Given the description of an element on the screen output the (x, y) to click on. 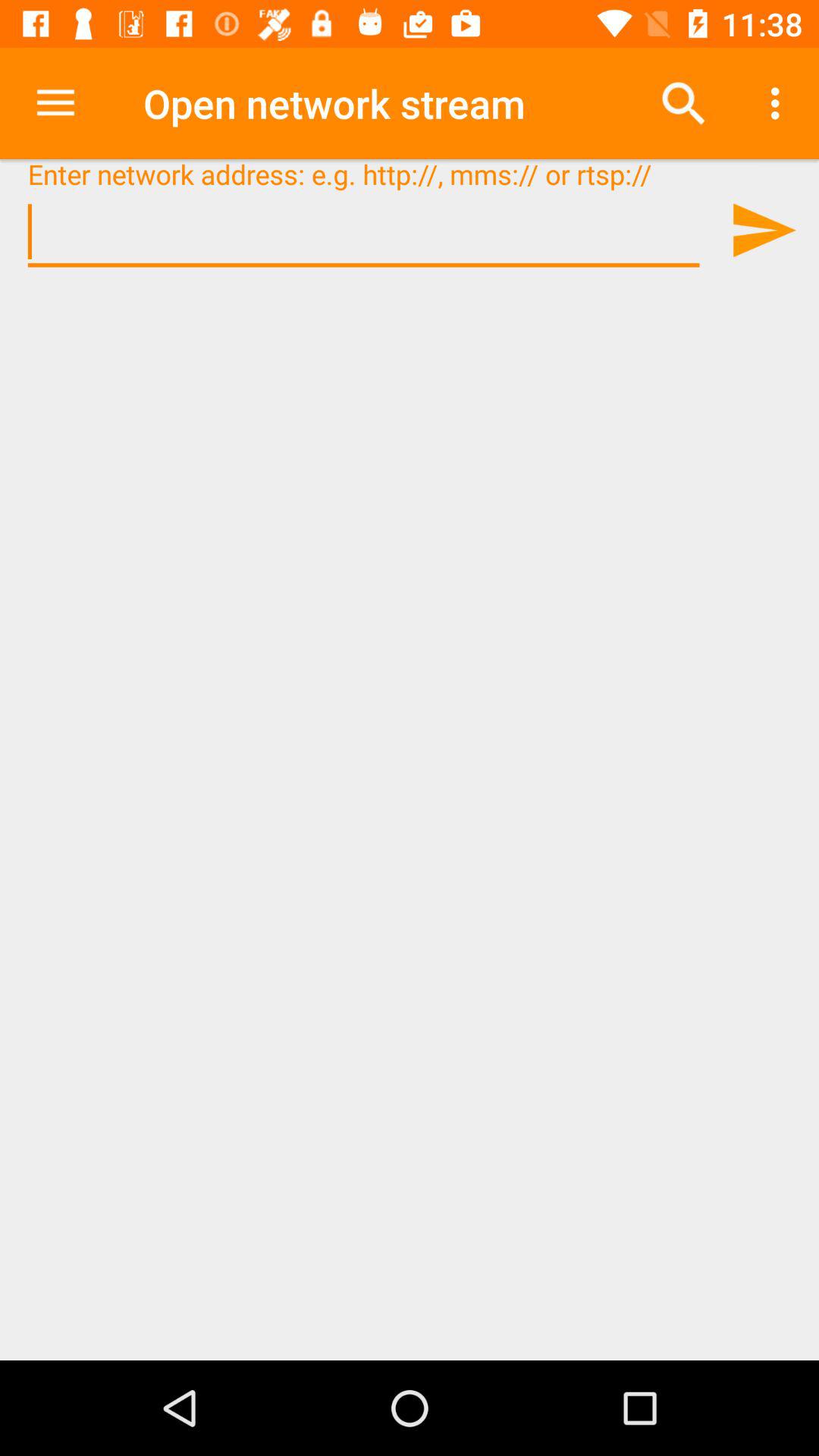
go to website (763, 229)
